Given the description of an element on the screen output the (x, y) to click on. 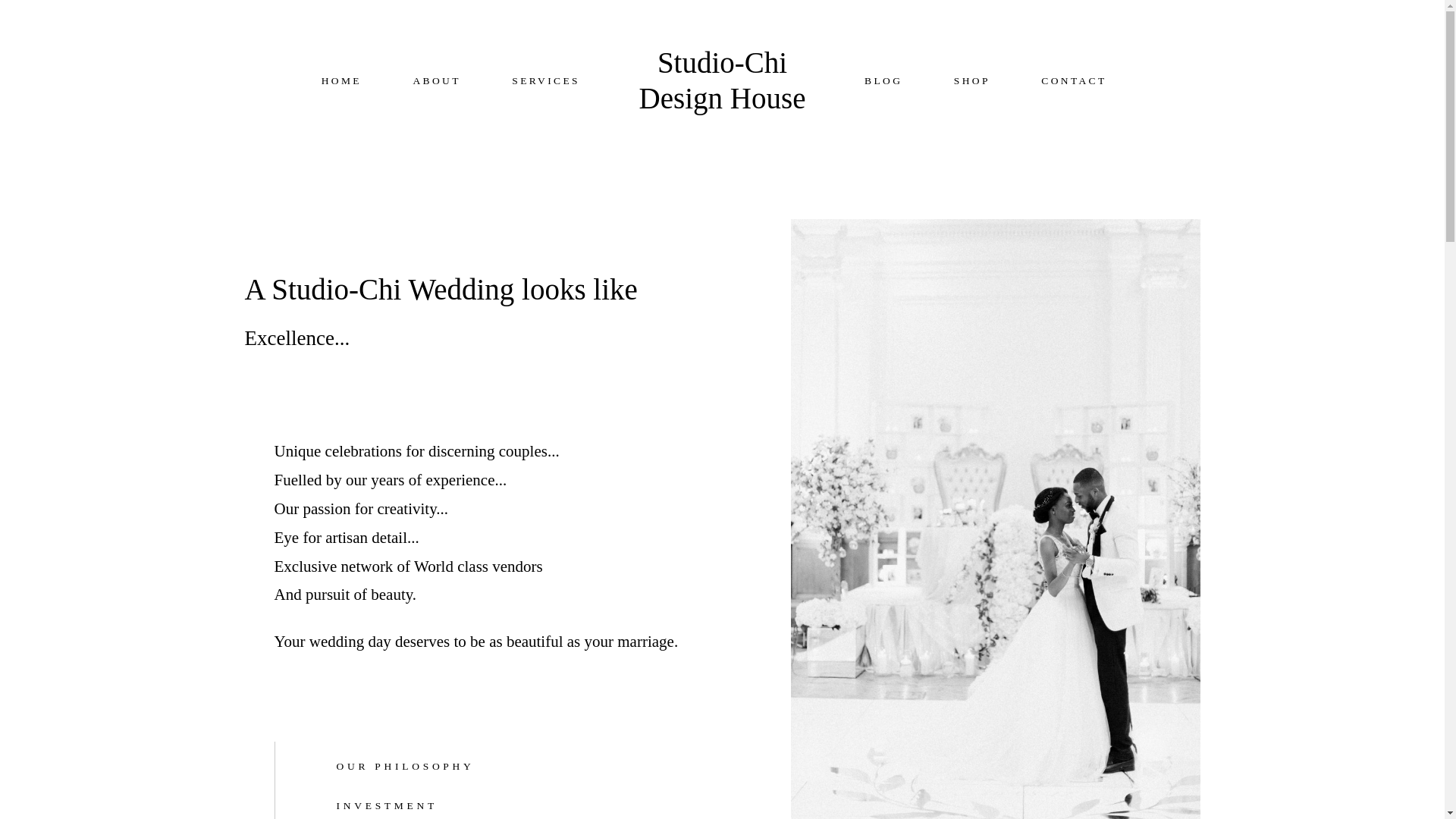
BLOG (883, 81)
Studio-Chi Design House (721, 81)
SHOP (971, 81)
HOME (341, 81)
INVESTMENT (510, 806)
SERVICES (545, 81)
OUR PHILOSOPHY (510, 766)
ABOUT (436, 81)
CONTACT (1073, 81)
